Given the description of an element on the screen output the (x, y) to click on. 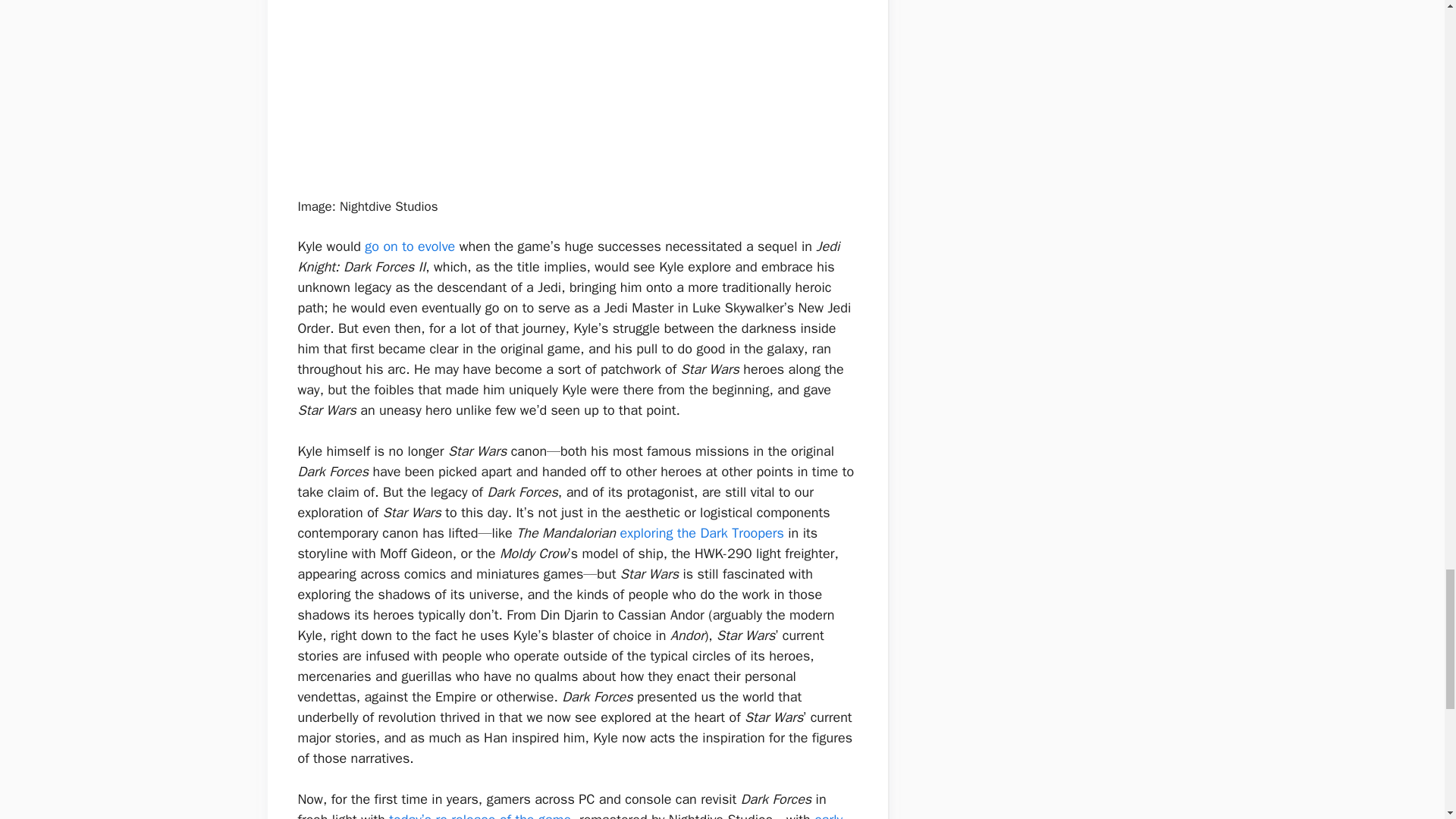
go on to evolve (409, 246)
exploring the Dark Troopers (701, 532)
early indications pointing to (570, 815)
